Given the description of an element on the screen output the (x, y) to click on. 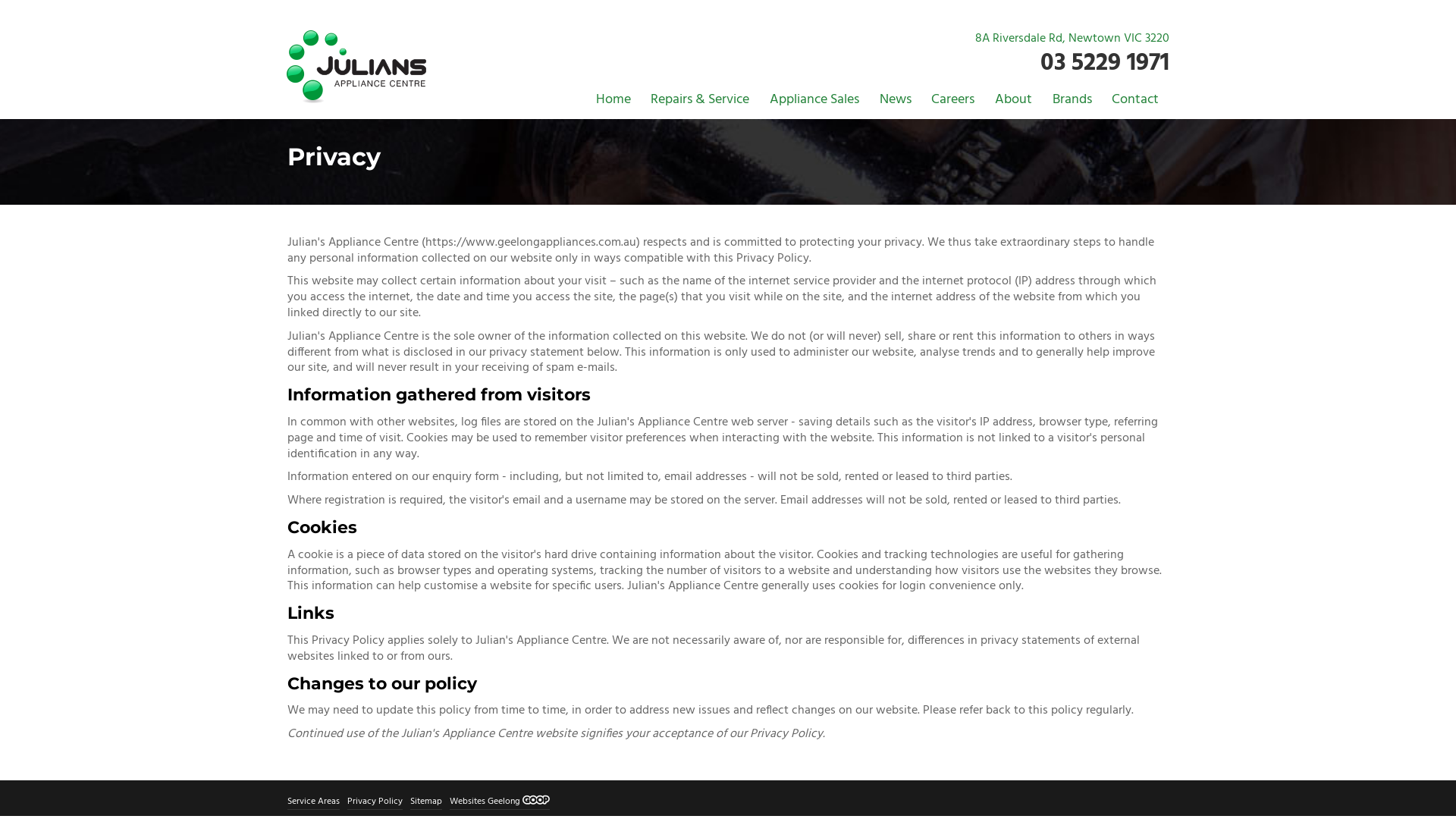
Careers Element type: text (952, 99)
Appliance Sales Element type: text (814, 99)
03 5229 1971 Element type: text (1104, 62)
Brands Element type: text (1072, 99)
About Element type: text (1013, 99)
Sitemap Element type: text (426, 801)
Contact Element type: text (1134, 99)
Repairs & Service Element type: text (699, 99)
Privacy Policy Element type: text (374, 801)
News Element type: text (895, 99)
Websites Geelong Element type: text (499, 801)
Service Areas Element type: text (313, 801)
Home Element type: text (613, 99)
